Given the description of an element on the screen output the (x, y) to click on. 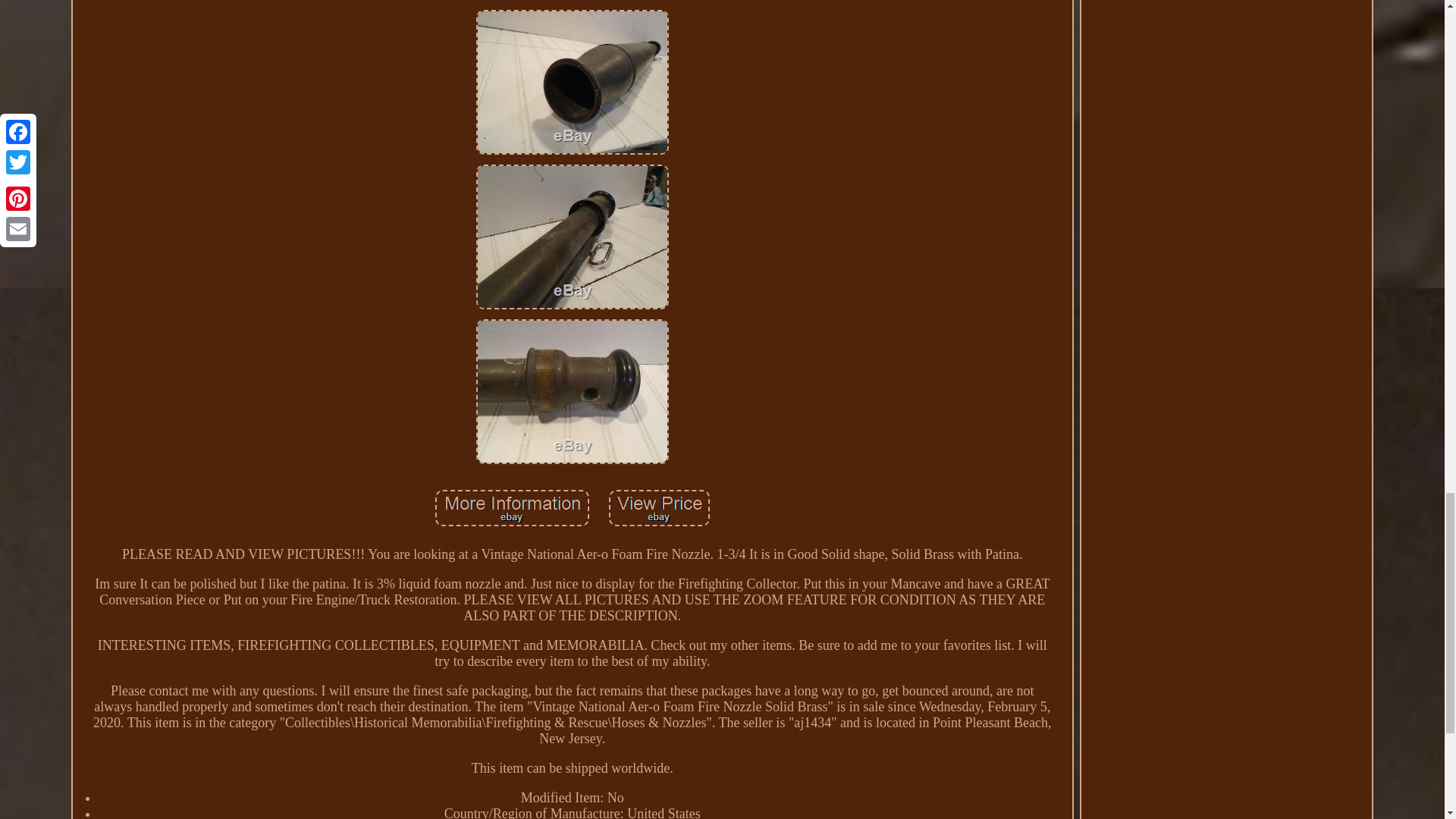
Vintage National Aer-o Foam Fire Nozzle Solid Brass (572, 236)
Vintage National Aer-o Foam Fire Nozzle Solid Brass (659, 507)
Vintage National Aer-o Foam Fire Nozzle Solid Brass (512, 507)
Vintage National Aer-o Foam Fire Nozzle Solid Brass (572, 391)
Vintage National Aer-o Foam Fire Nozzle Solid Brass (572, 81)
